Given the description of an element on the screen output the (x, y) to click on. 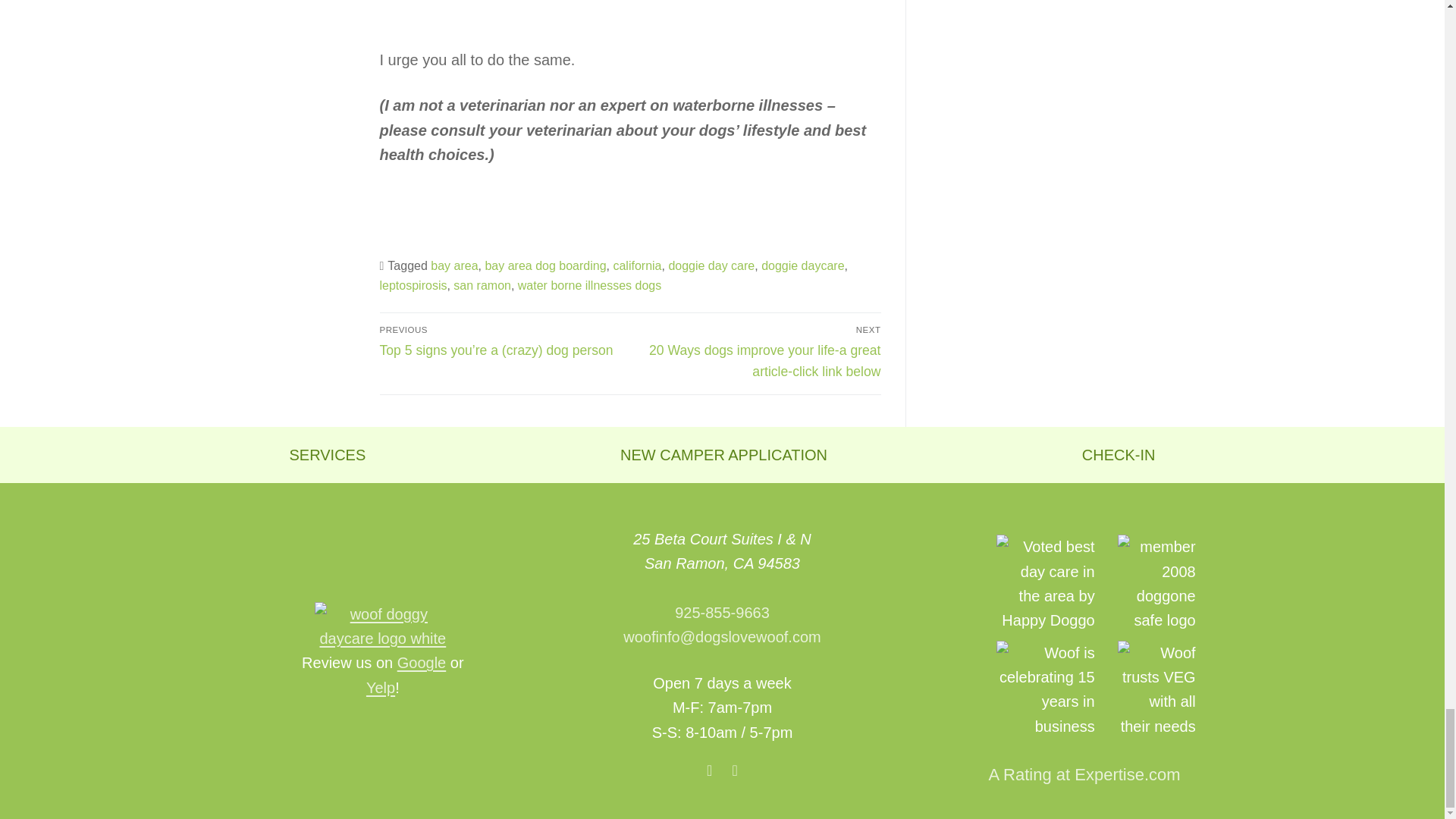
Facebook (709, 770)
We are celebrating 15 years in business! (1044, 689)
Voted best day care in the area by Happy Doggo (1044, 583)
Instagram (734, 770)
